Given the description of an element on the screen output the (x, y) to click on. 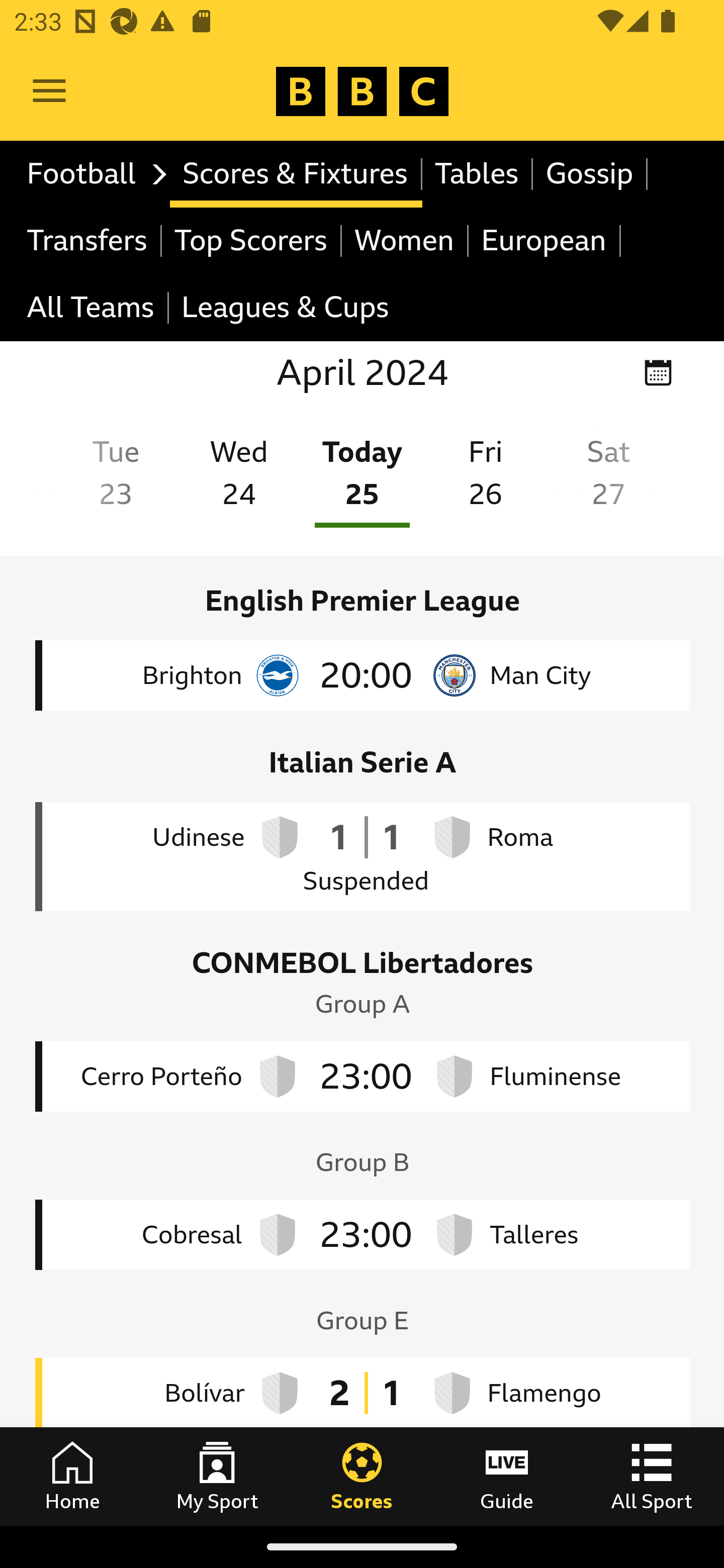
Open Menu (49, 91)
Football (91, 173)
Scores & Fixtures (295, 173)
Tables (477, 173)
Gossip (590, 173)
Transfers (88, 240)
Top Scorers (251, 240)
Women (405, 240)
European (544, 240)
All Teams (91, 308)
Leagues & Cups (284, 308)
Home (72, 1475)
My Sport (216, 1475)
Guide (506, 1475)
All Sport (651, 1475)
